Given the description of an element on the screen output the (x, y) to click on. 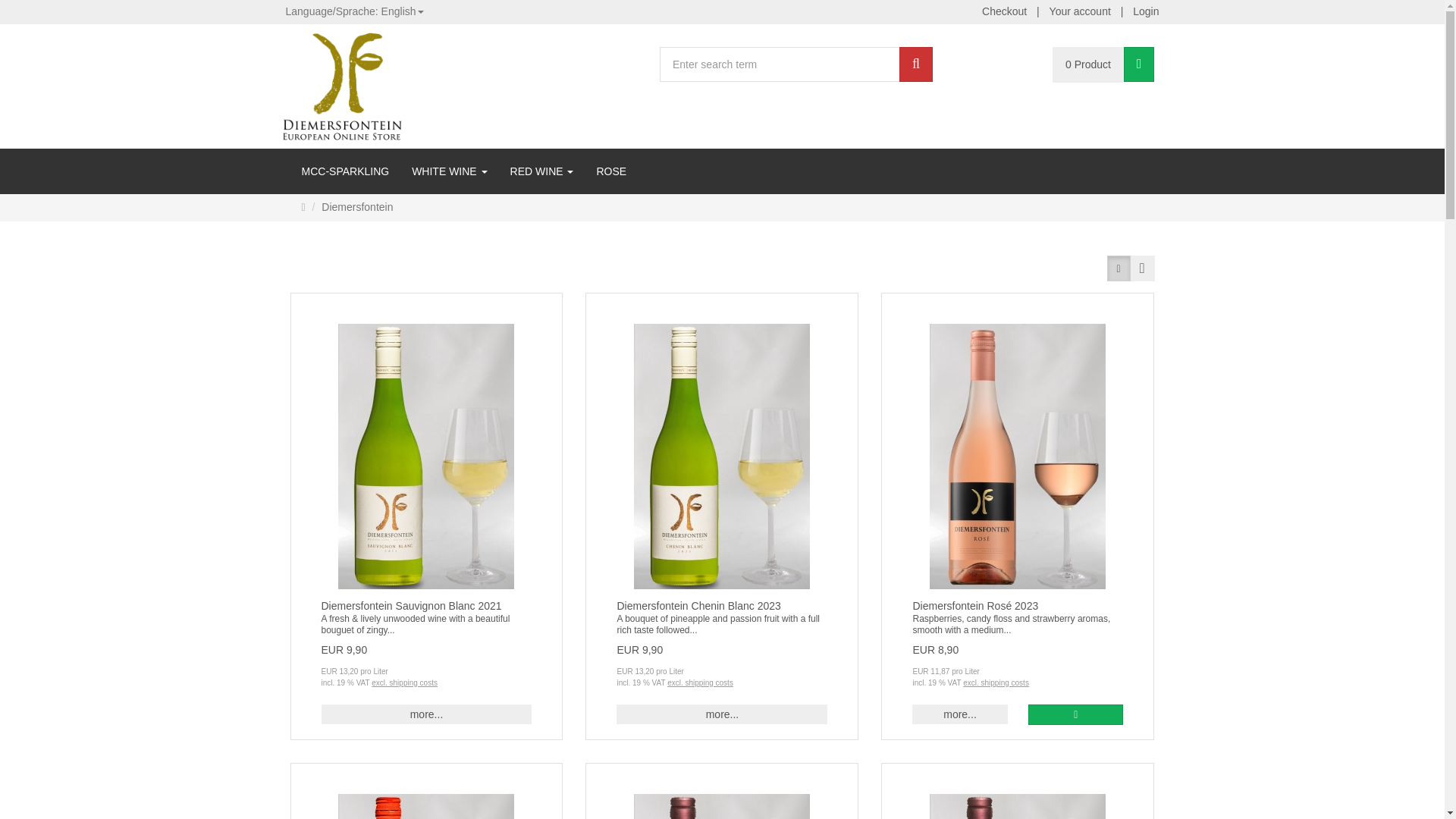
Diemersfontein (341, 85)
Shopping Cart (1139, 63)
0 Product (1088, 64)
Checkout (1004, 12)
Your account (1080, 12)
ROSE (611, 171)
WHITE WINE (448, 171)
Diemersfontein (350, 207)
RED WINE (542, 171)
Login (1145, 12)
excl. shipping costs (404, 682)
Main page (303, 206)
MCC-SPARKLING (344, 171)
Diemersfontein Sauvignon Blanc 2021 (411, 605)
Main page (303, 206)
